Given the description of an element on the screen output the (x, y) to click on. 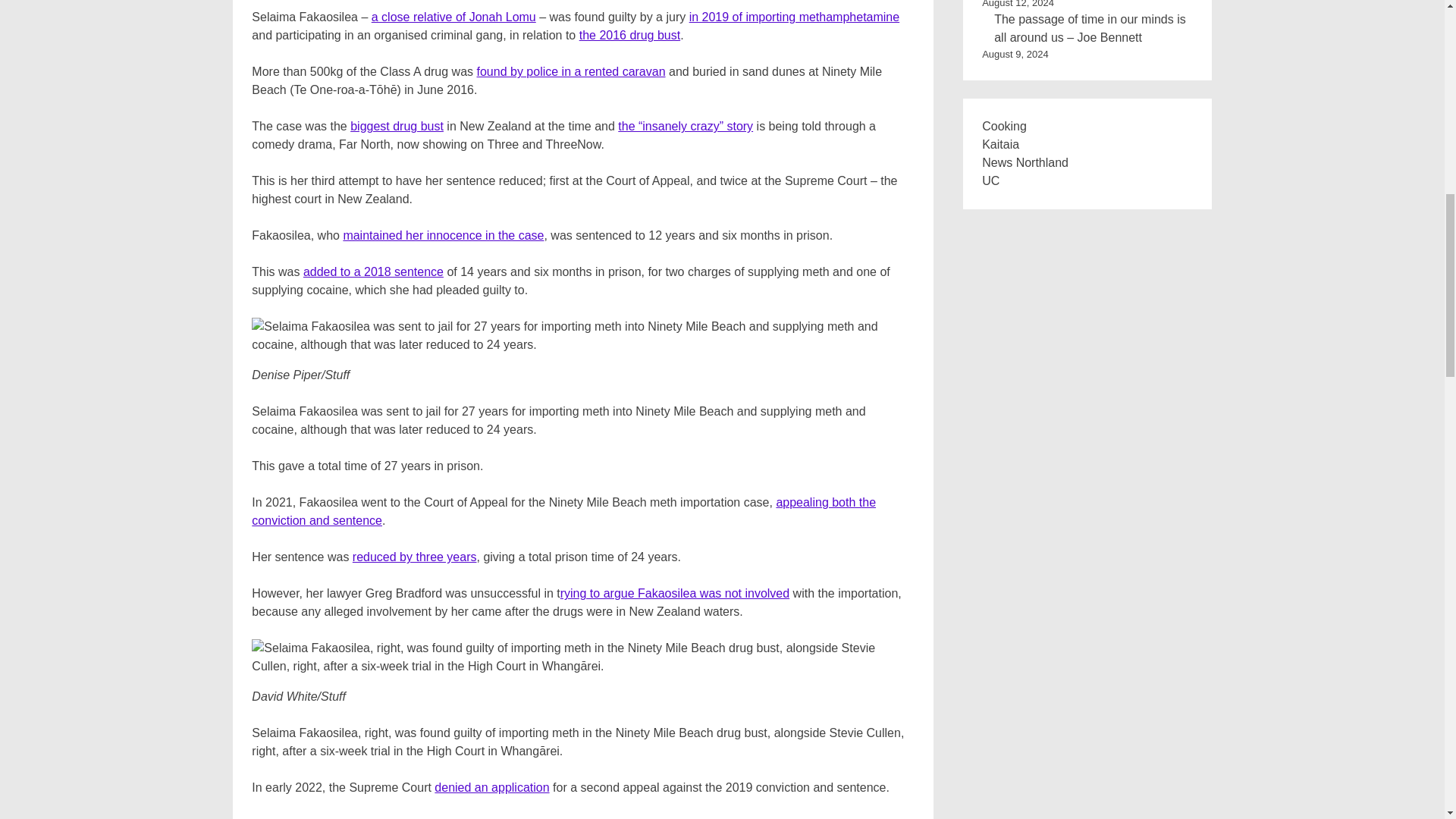
biggest drug bust (397, 125)
the 2016 drug bust (629, 34)
maintained her innocence in the case (442, 235)
reduced by three years (414, 556)
in 2019 of importing methamphetamine (793, 16)
added to a 2018 sentence (373, 271)
appealing both the conviction and sentence (563, 511)
a close relative of Jonah Lomu (453, 16)
rying to argue Fakaosilea was not involved (674, 593)
denied an application (490, 787)
